Given the description of an element on the screen output the (x, y) to click on. 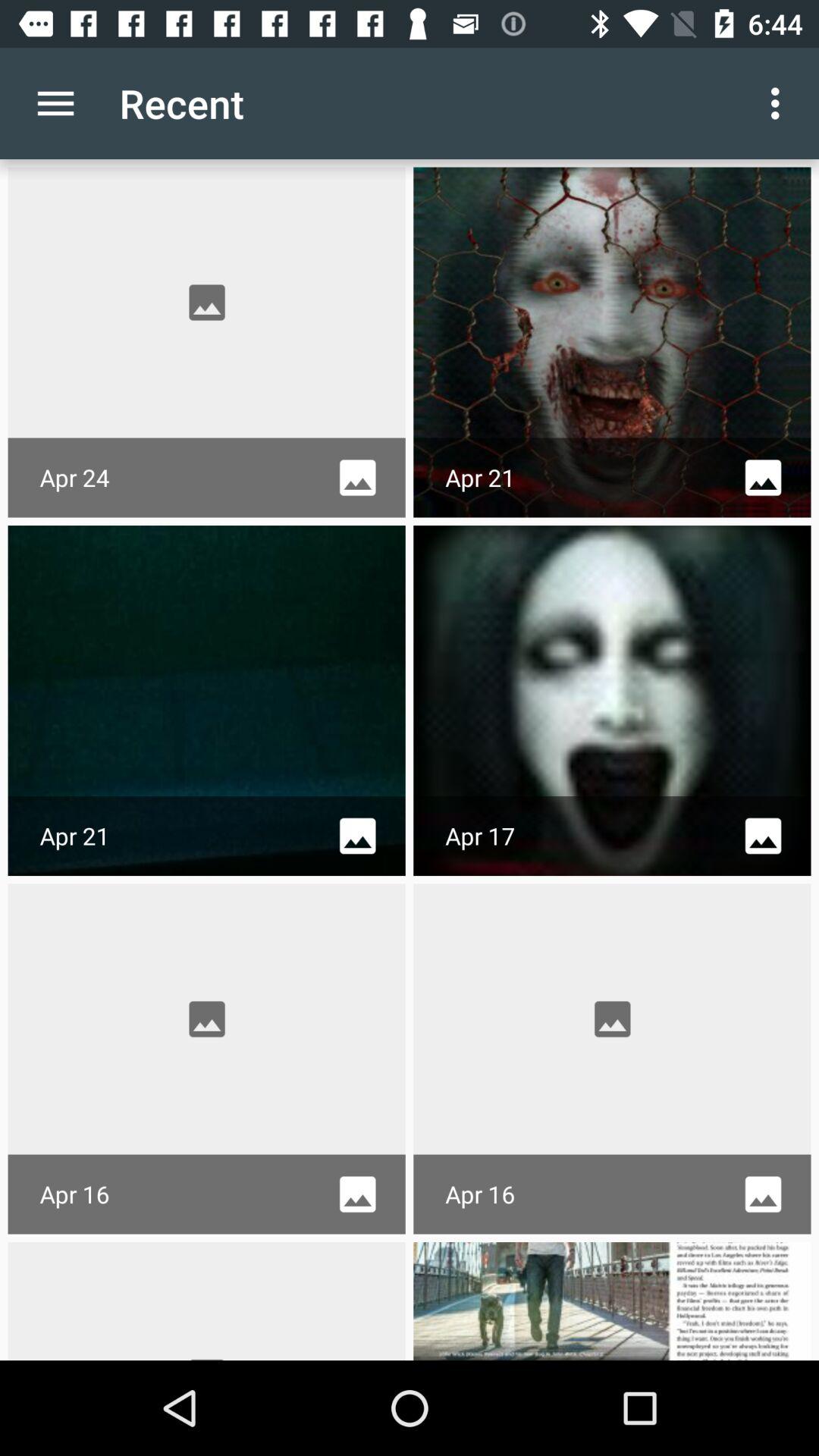
press app next to recent (779, 103)
